Given the description of an element on the screen output the (x, y) to click on. 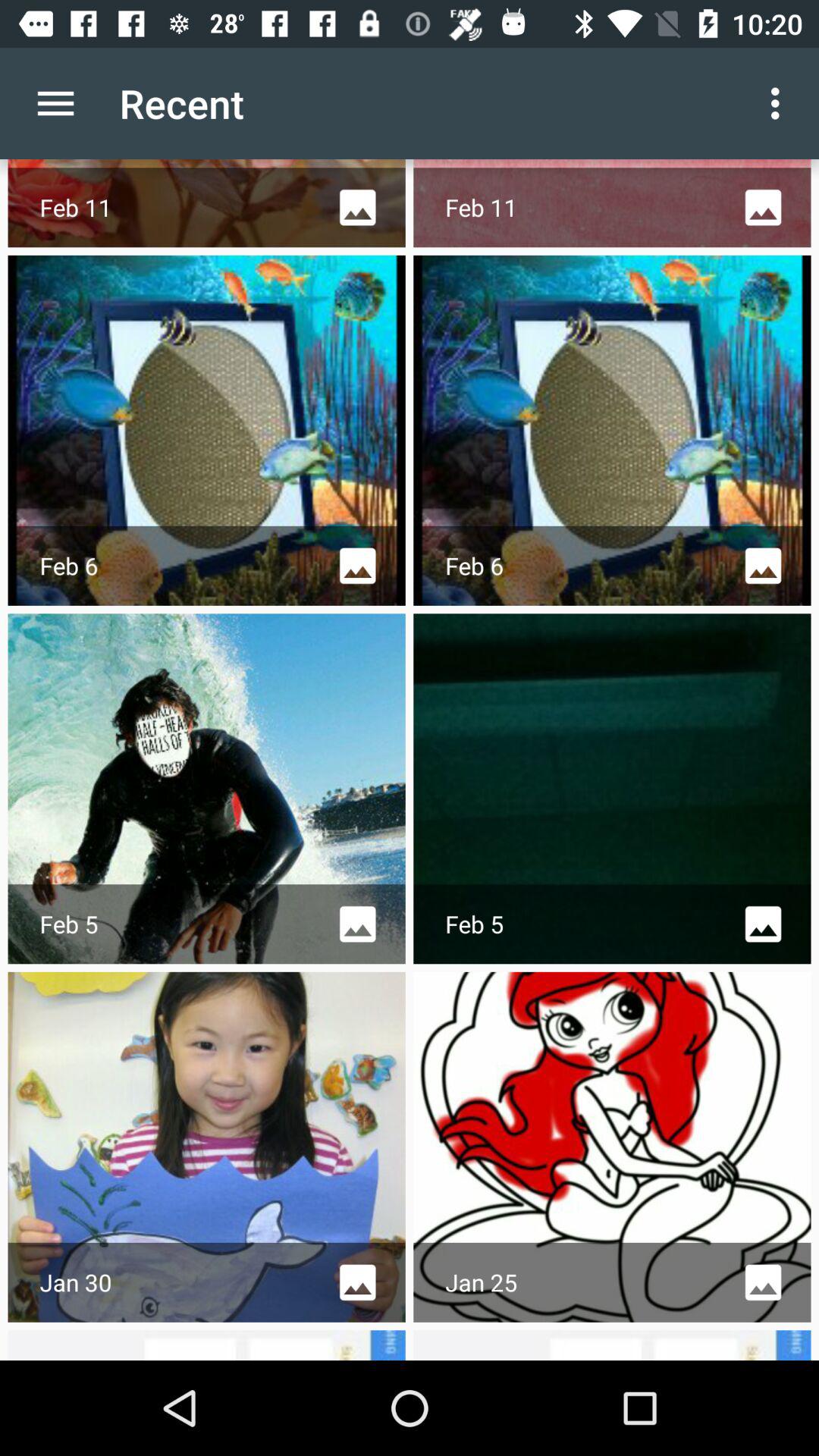
click on jan 25 (612, 1147)
